Given the description of an element on the screen output the (x, y) to click on. 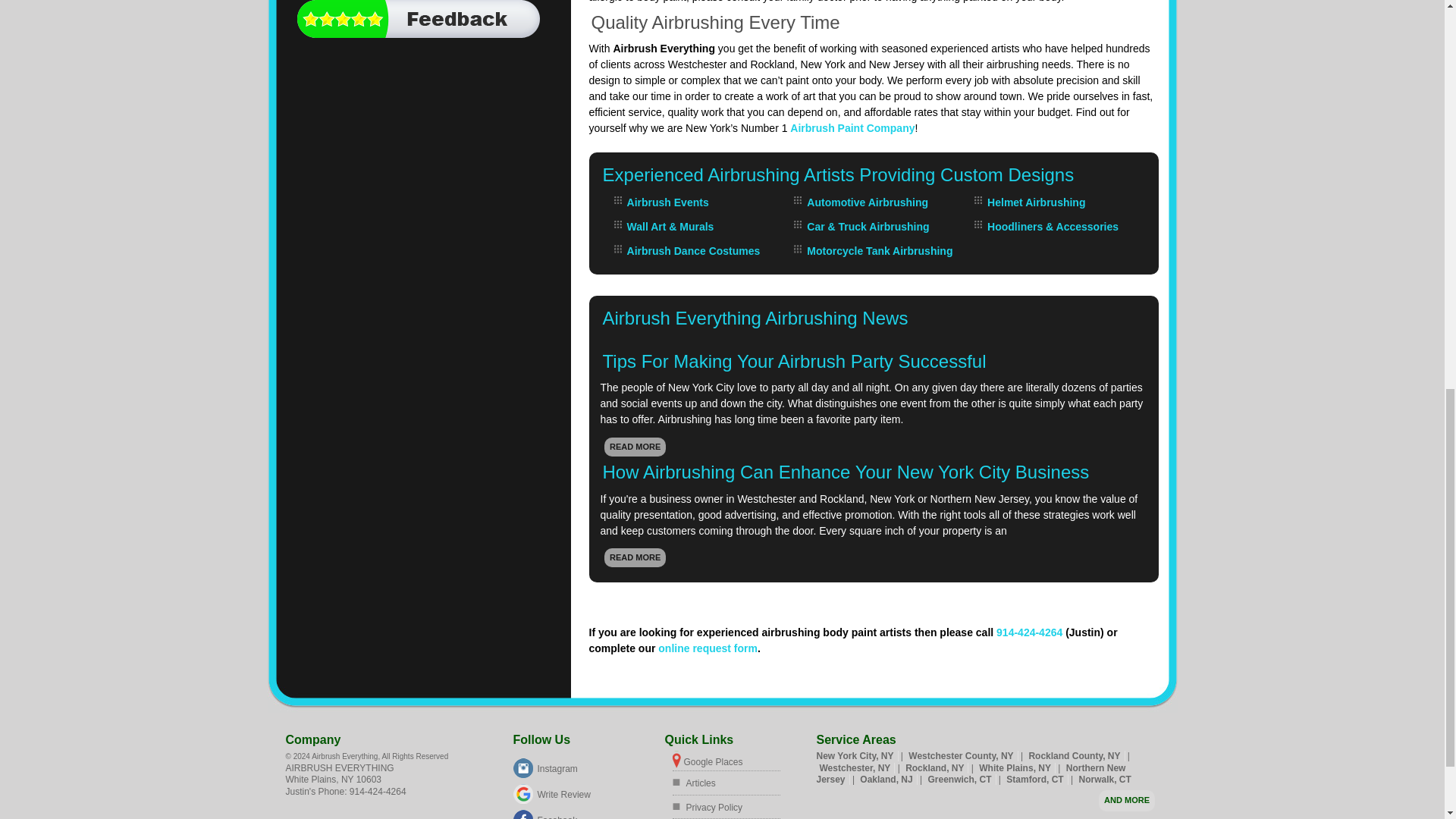
Motorcycle Tank Airbrushing (879, 250)
Airbrush Paint Company (852, 128)
Airbrush Dance Costumes (693, 250)
Automotive Airbrushing (867, 202)
Airbrush Events (668, 202)
Helmet Airbrushing (1035, 202)
